Given the description of an element on the screen output the (x, y) to click on. 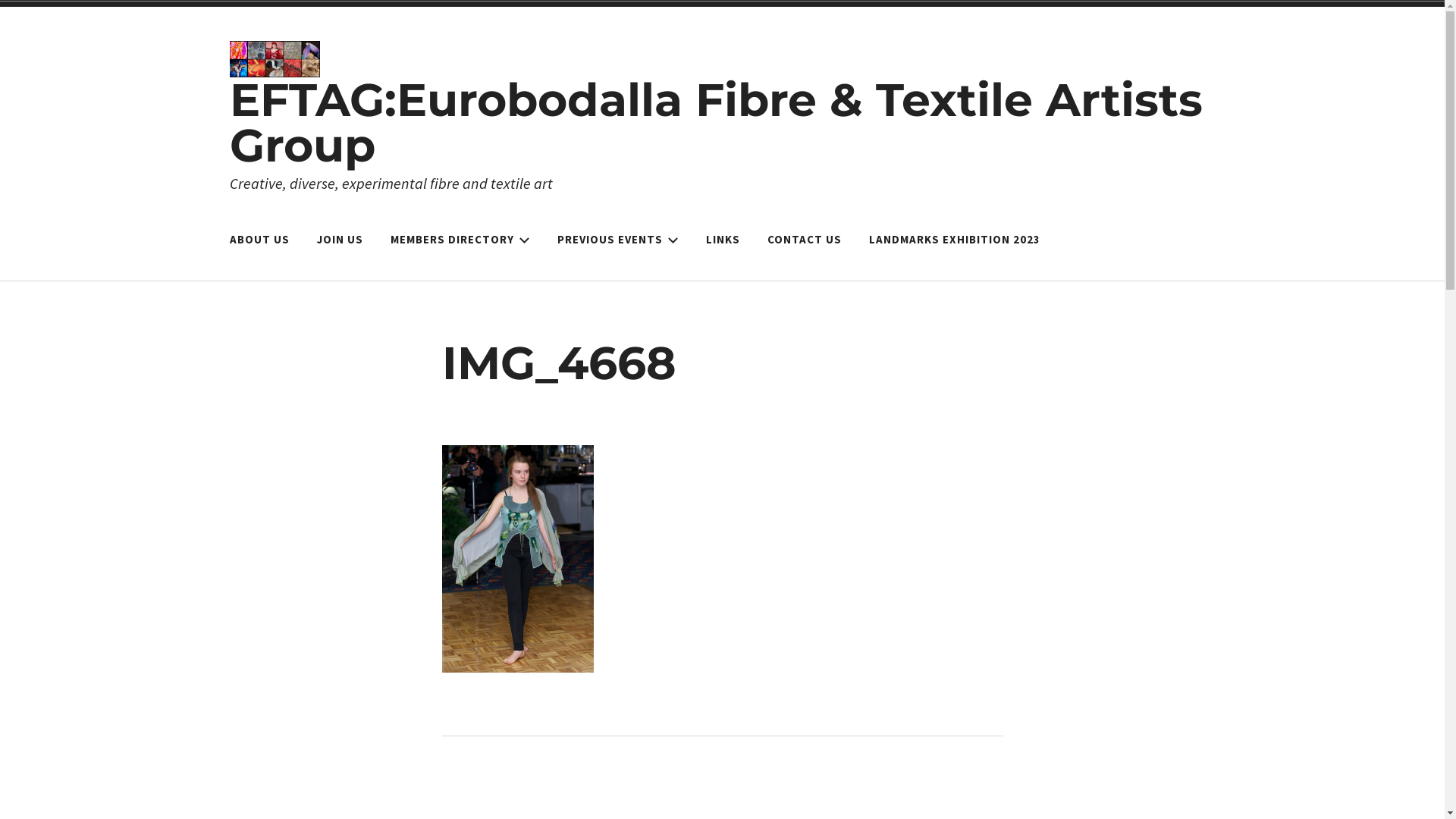
LANDMARKS EXHIBITION 2023 Element type: text (953, 239)
PREVIOUS EVENTS Element type: text (618, 239)
LINKS Element type: text (722, 239)
MEMBERS DIRECTORY Element type: text (460, 239)
ABOUT US Element type: text (259, 239)
EFTAG:Eurobodalla Fibre & Textile Artists Group Element type: text (715, 122)
CONTACT US Element type: text (803, 239)
JOIN US Element type: text (338, 239)
Search Element type: text (29, 13)
